Given the description of an element on the screen output the (x, y) to click on. 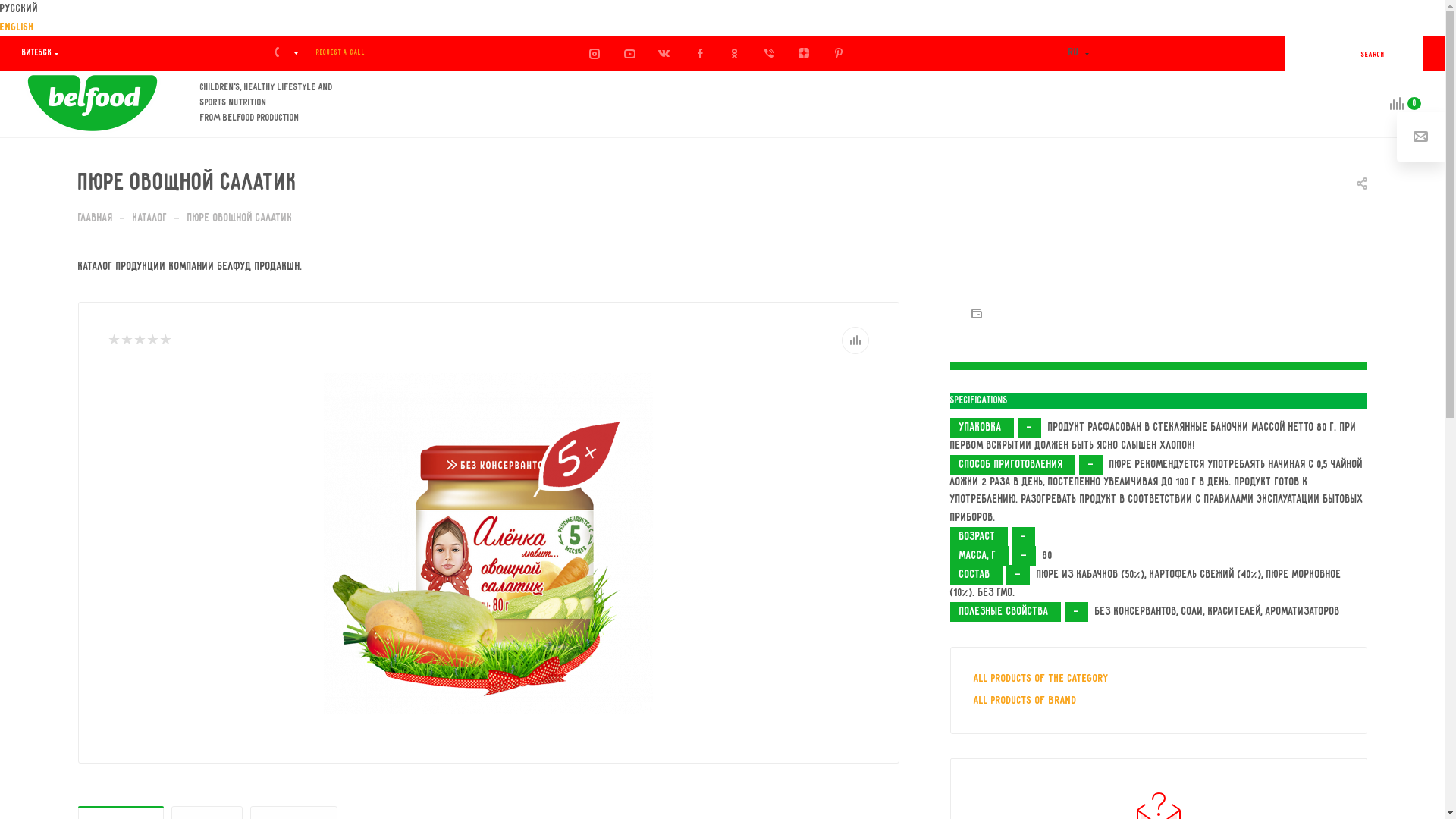
Ask a Question Element type: hover (1420, 136)
SEARCH Element type: text (1361, 49)
English Element type: text (722, 27)
All products of brand Element type: text (1024, 700)
Pinterest Element type: text (839, 52)
Viber Element type: text (770, 52)
Classmates Element type: hover (735, 52)
YouTube Element type: hover (630, 52)
Yandex.Zen Element type: text (804, 52)
VKontakte Element type: hover (665, 52)
Compare Element type: hover (855, 340)
Instagram Element type: hover (595, 52)
0 Element type: text (1394, 104)
Facebook Element type: hover (700, 52)
All products of the category Element type: text (1040, 678)
